Given the description of an element on the screen output the (x, y) to click on. 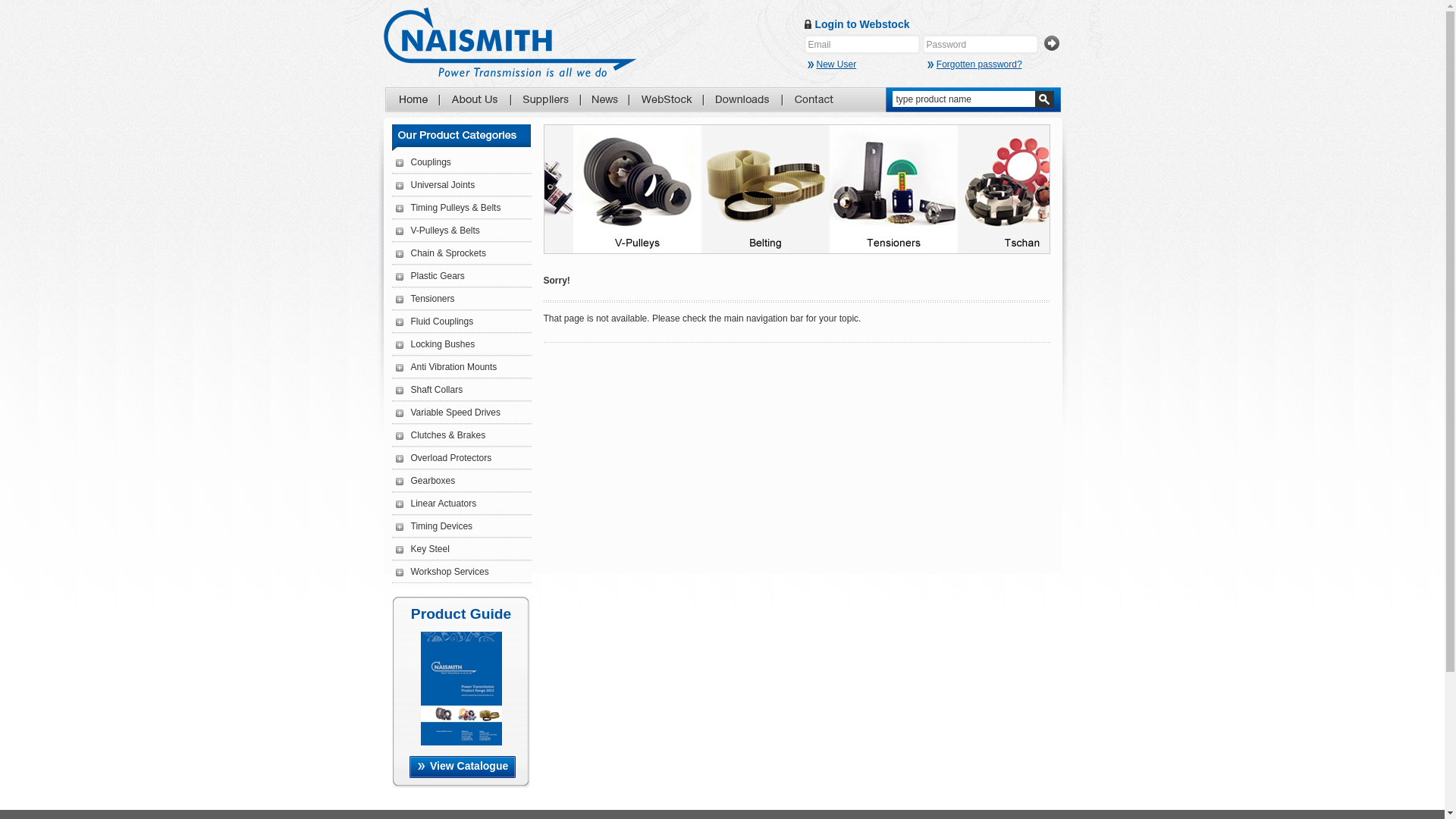
WebStock Element type: text (665, 99)
About us Element type: text (474, 99)
Suppliers Element type: text (544, 99)
Anti Vibration Mounts Element type: text (446, 366)
Downloads Element type: text (742, 99)
Variable Speed Drives Element type: text (448, 412)
Clutches & Brakes Element type: text (440, 434)
Locking Bushes Element type: text (435, 343)
NaismithEngineering Element type: text (510, 41)
Universal Joints Element type: text (435, 184)
Timing Pulleys & Belts Element type: text (448, 207)
New User Element type: text (864, 64)
Timing Devices Element type: text (434, 525)
Couplings Element type: text (423, 161)
Fluid Couplings Element type: text (434, 321)
Home Element type: text (412, 99)
Overload Protectors Element type: text (443, 457)
Workshop Services Element type: text (442, 571)
View Catalogue Element type: text (463, 767)
Plastic Gears Element type: text (429, 275)
Search Element type: text (1043, 99)
V-Pulleys & Belts Element type: text (437, 230)
submit Element type: text (1050, 43)
Gearboxes Element type: text (425, 480)
Forgotten password? Element type: text (974, 64)
Contact Element type: text (813, 99)
News Element type: text (604, 99)
Key Steel Element type: text (422, 548)
Linear Actuators Element type: text (435, 503)
Chain & Sprockets Element type: text (440, 252)
Tensioners Element type: text (425, 298)
Shaft Collars Element type: text (429, 389)
